Given the description of an element on the screen output the (x, y) to click on. 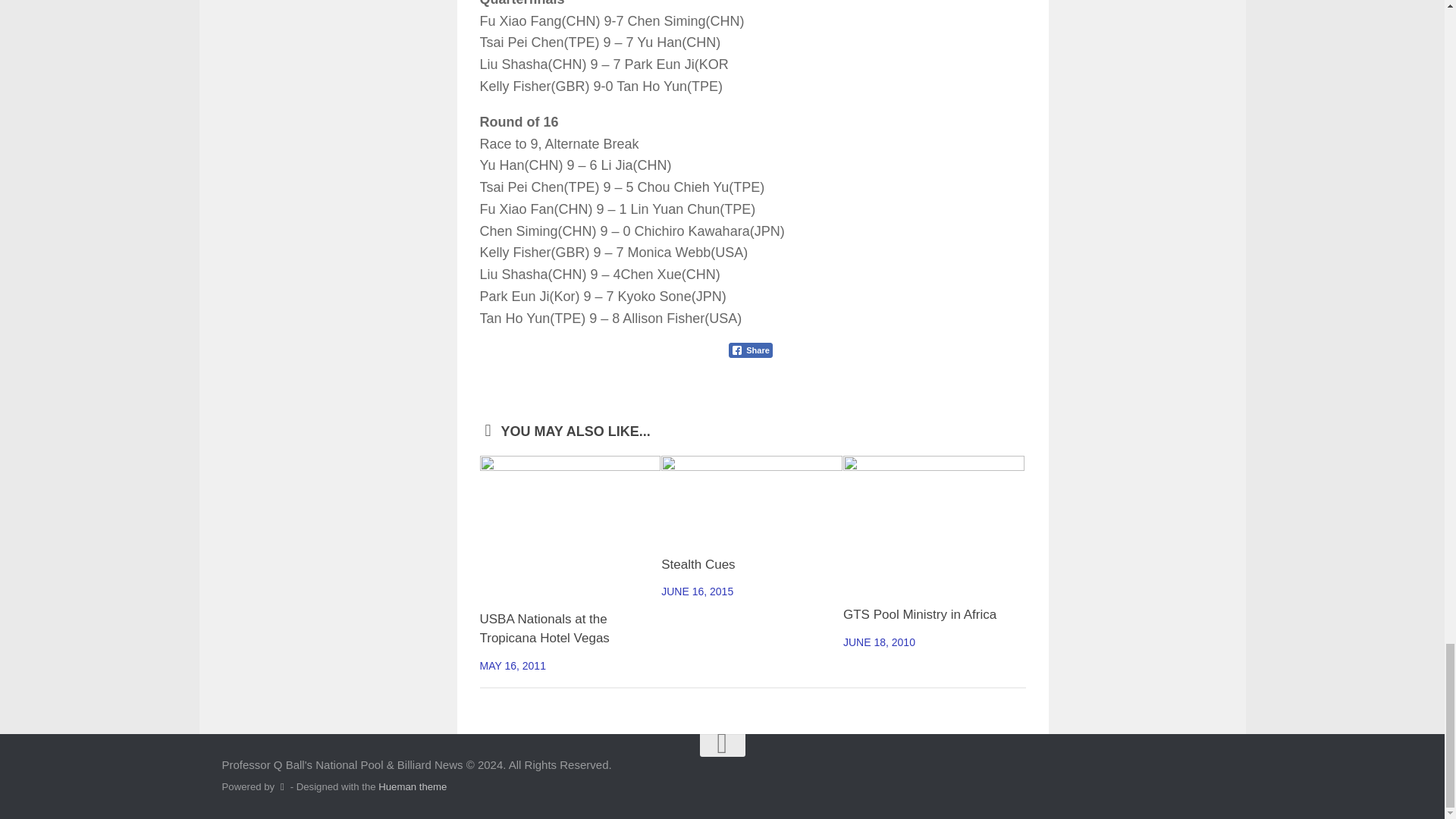
USBA Nationals at the Tropicana Hotel Vegas (543, 628)
Stealth Cues (698, 564)
Share (751, 350)
GTS Pool Ministry in Africa (919, 614)
